Given the description of an element on the screen output the (x, y) to click on. 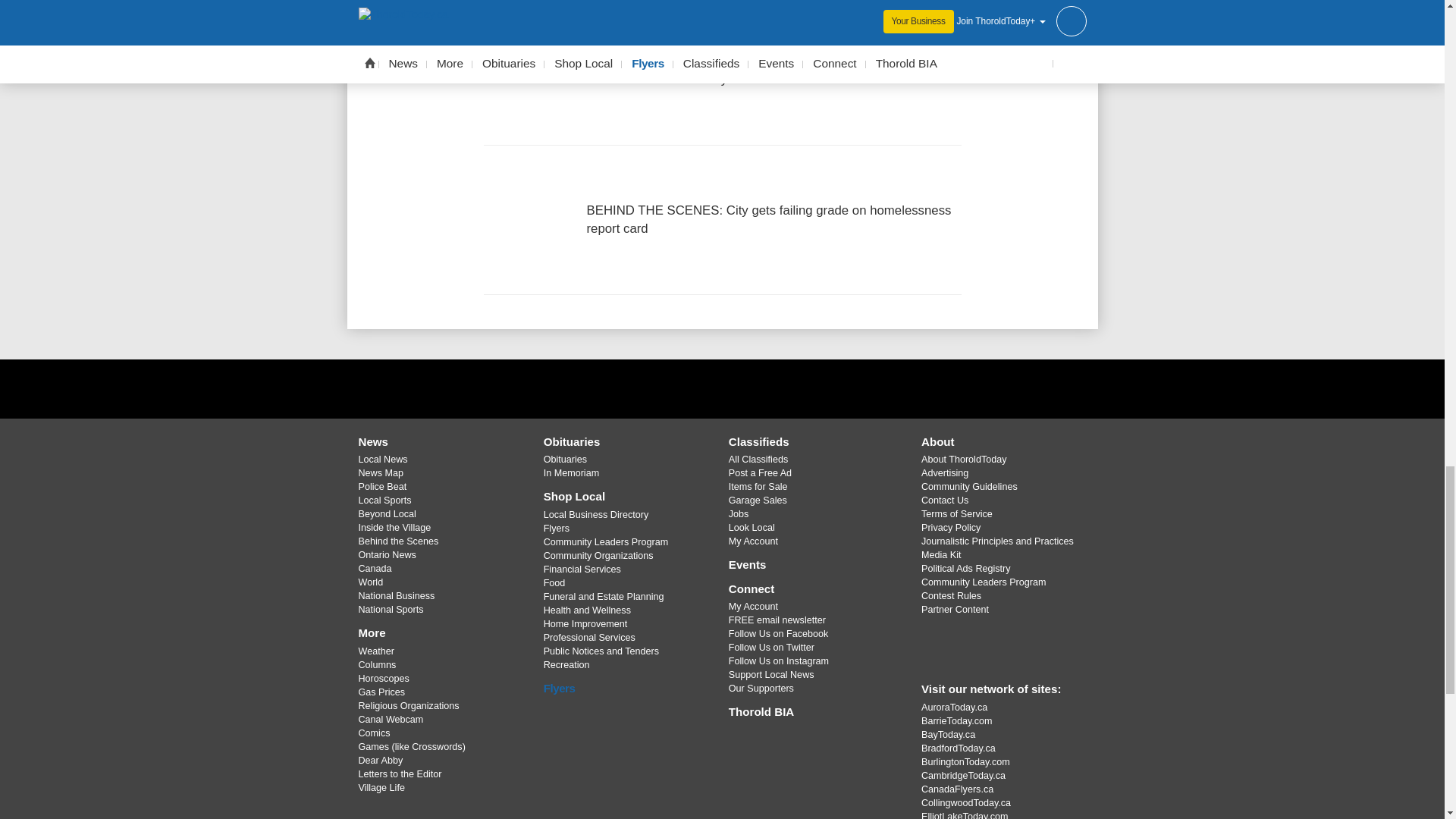
X (721, 388)
Facebook (683, 388)
Instagram (760, 388)
